Given the description of an element on the screen output the (x, y) to click on. 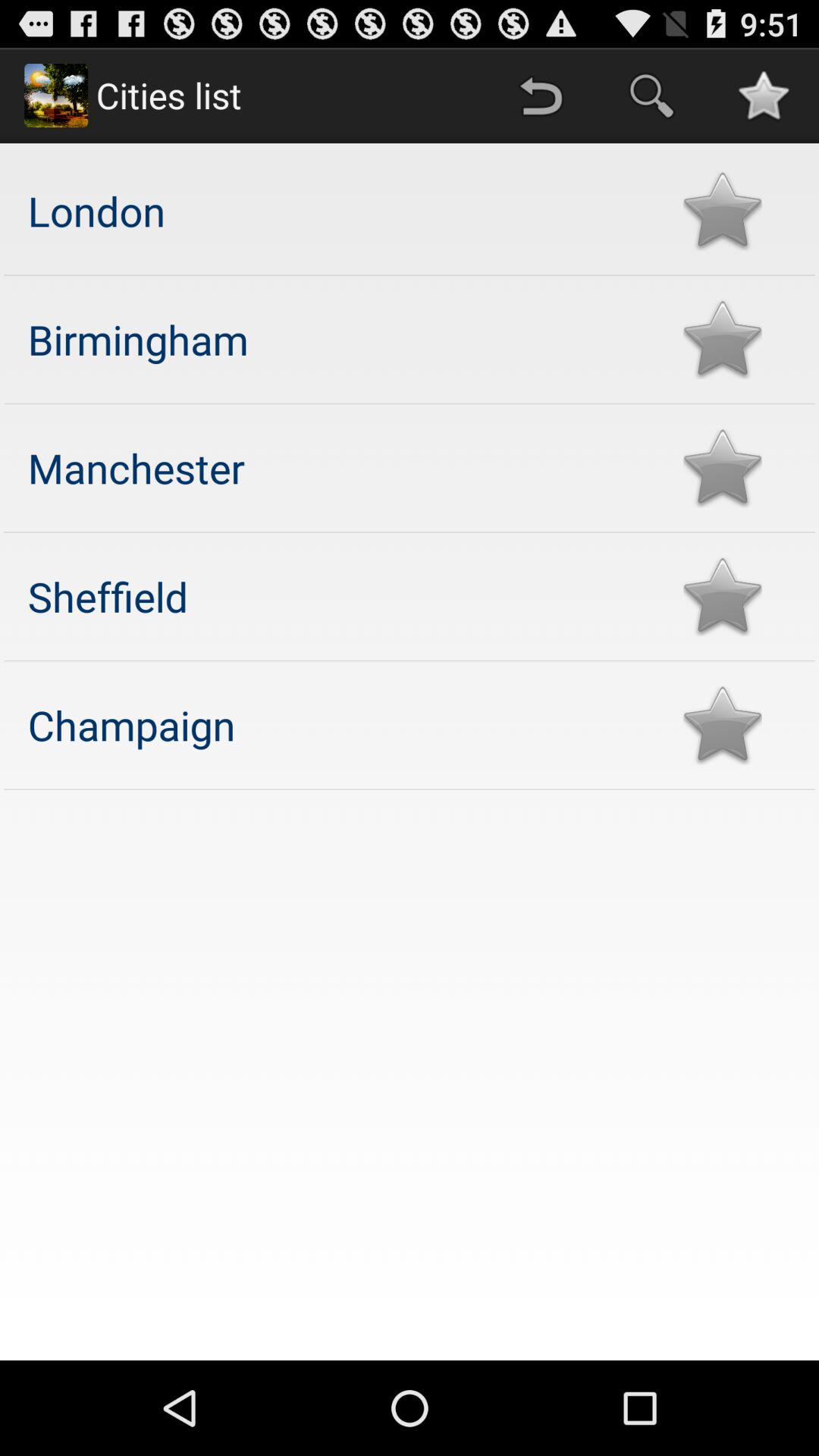
bookmark city (722, 467)
